Given the description of an element on the screen output the (x, y) to click on. 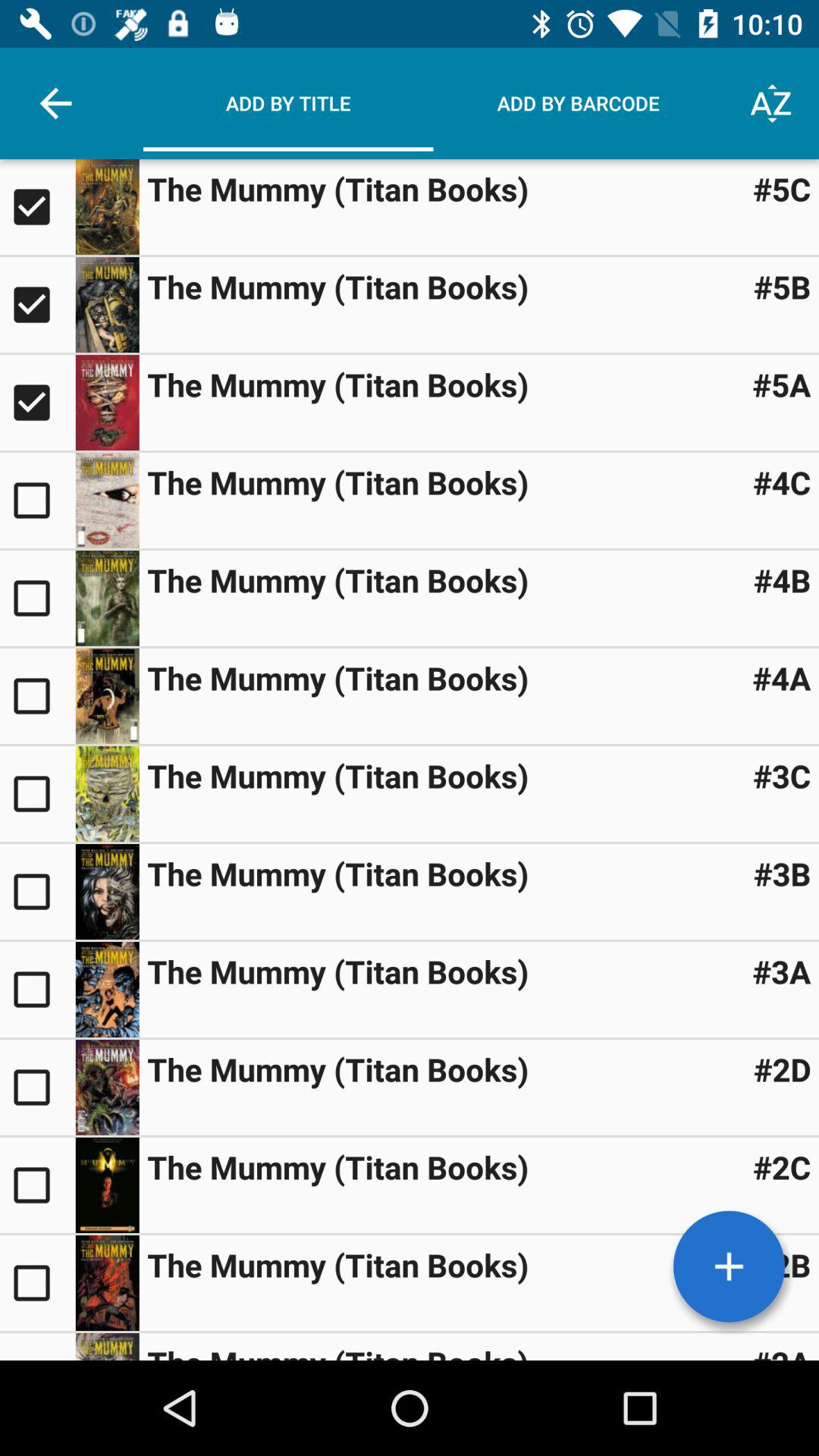
uncheck item (37, 402)
